Given the description of an element on the screen output the (x, y) to click on. 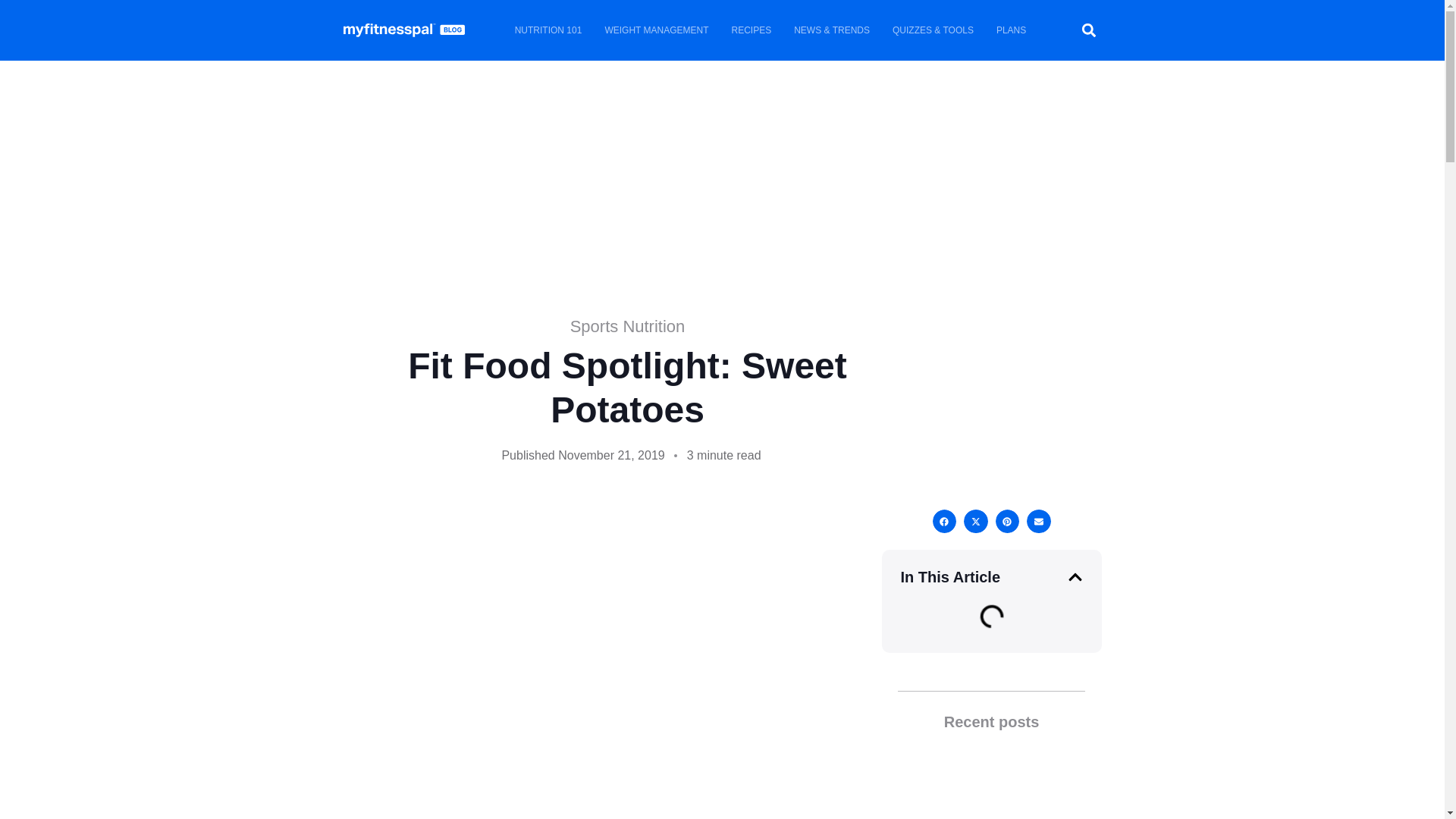
WEIGHT MANAGEMENT (655, 30)
NUTRITION 101 (548, 30)
RECIPES (751, 30)
